Given the description of an element on the screen output the (x, y) to click on. 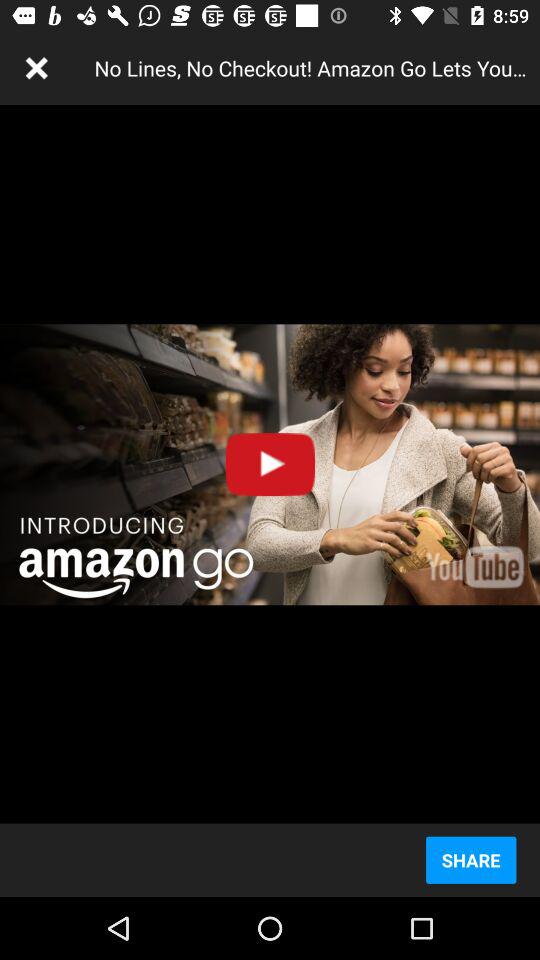
turn off item at the center (270, 464)
